Given the description of an element on the screen output the (x, y) to click on. 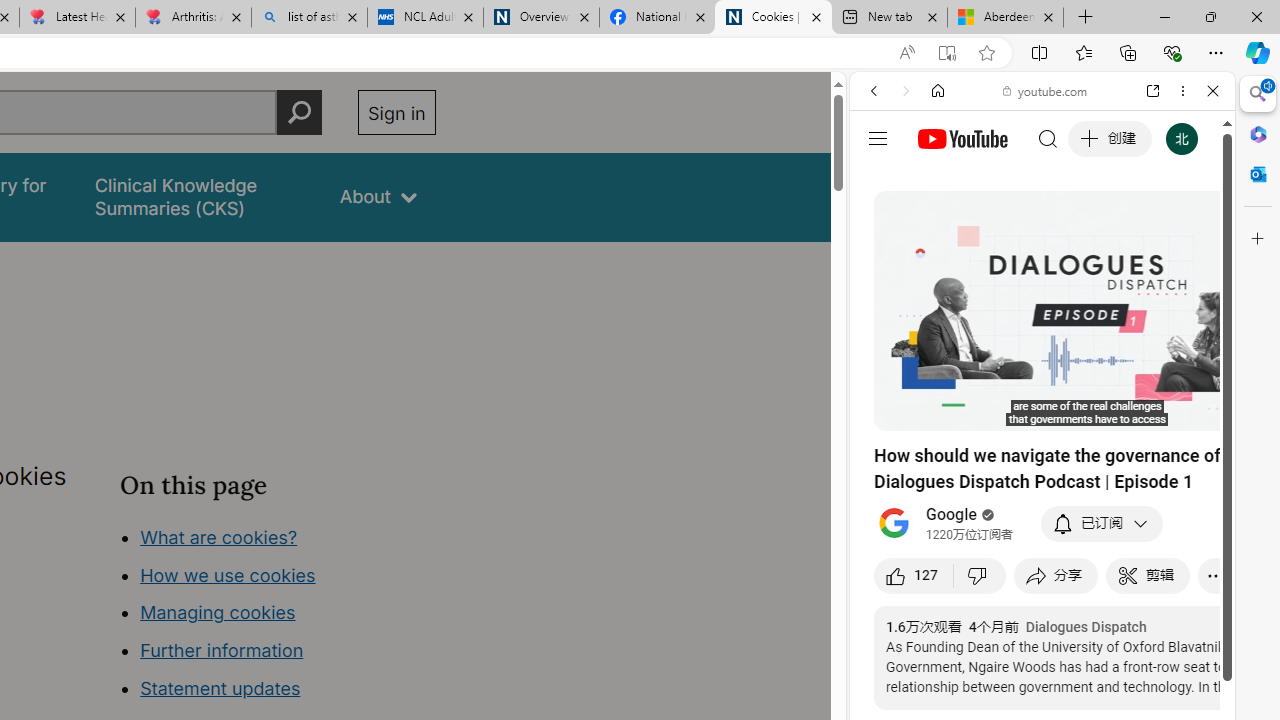
Music (1042, 543)
false (198, 196)
YouTube (1034, 296)
